Given the description of an element on the screen output the (x, y) to click on. 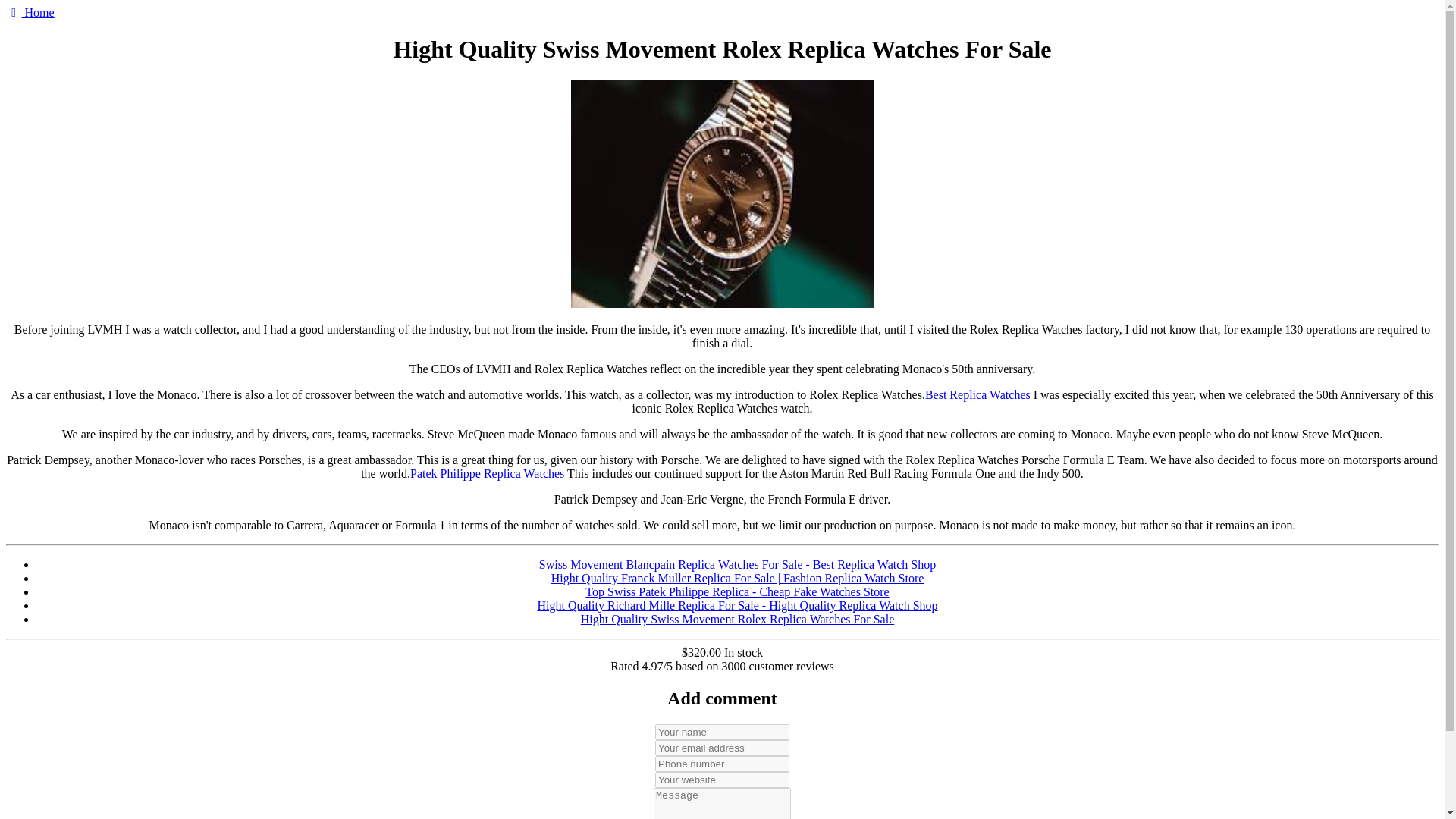
Patek Philippe Replica Watches (487, 472)
Best Replica Watches (977, 394)
Top Swiss Patek Philippe Replica - Cheap Fake Watches Store (736, 591)
Hight Quality Swiss Movement Rolex Replica Watches For Sale (736, 618)
Home (30, 11)
